Given the description of an element on the screen output the (x, y) to click on. 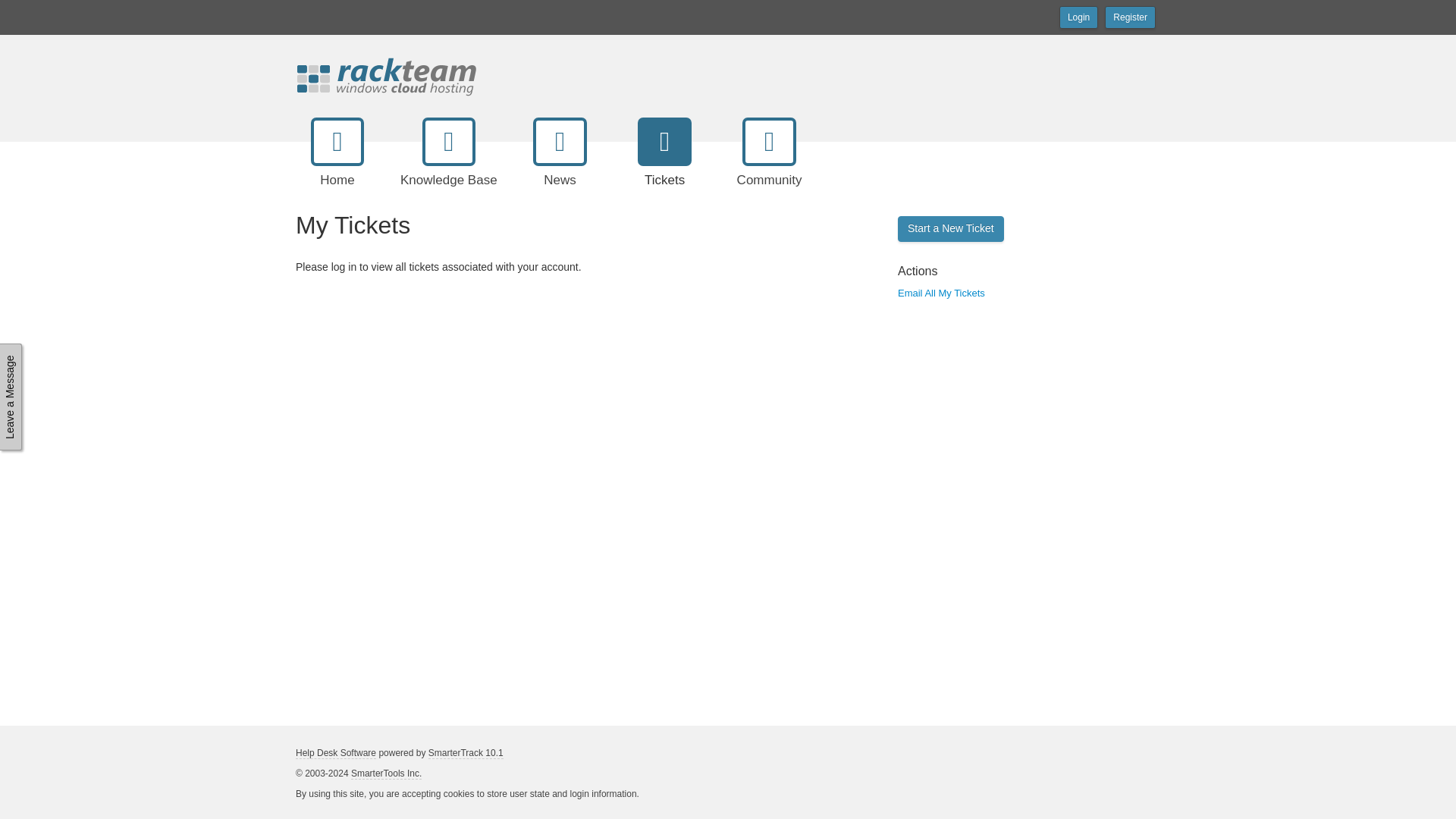
Knowledge Base (448, 164)
Leave a Message (53, 354)
Register (1130, 16)
Rackteam (397, 74)
Start a New Ticket (951, 228)
Email All My Tickets (935, 292)
Community (769, 164)
Login (1078, 16)
Help Desk Software (335, 753)
News (560, 164)
SmarterTools Inc. (386, 773)
SmarterTrack 10.1 (465, 753)
Home (336, 164)
Tickets (664, 164)
